Given the description of an element on the screen output the (x, y) to click on. 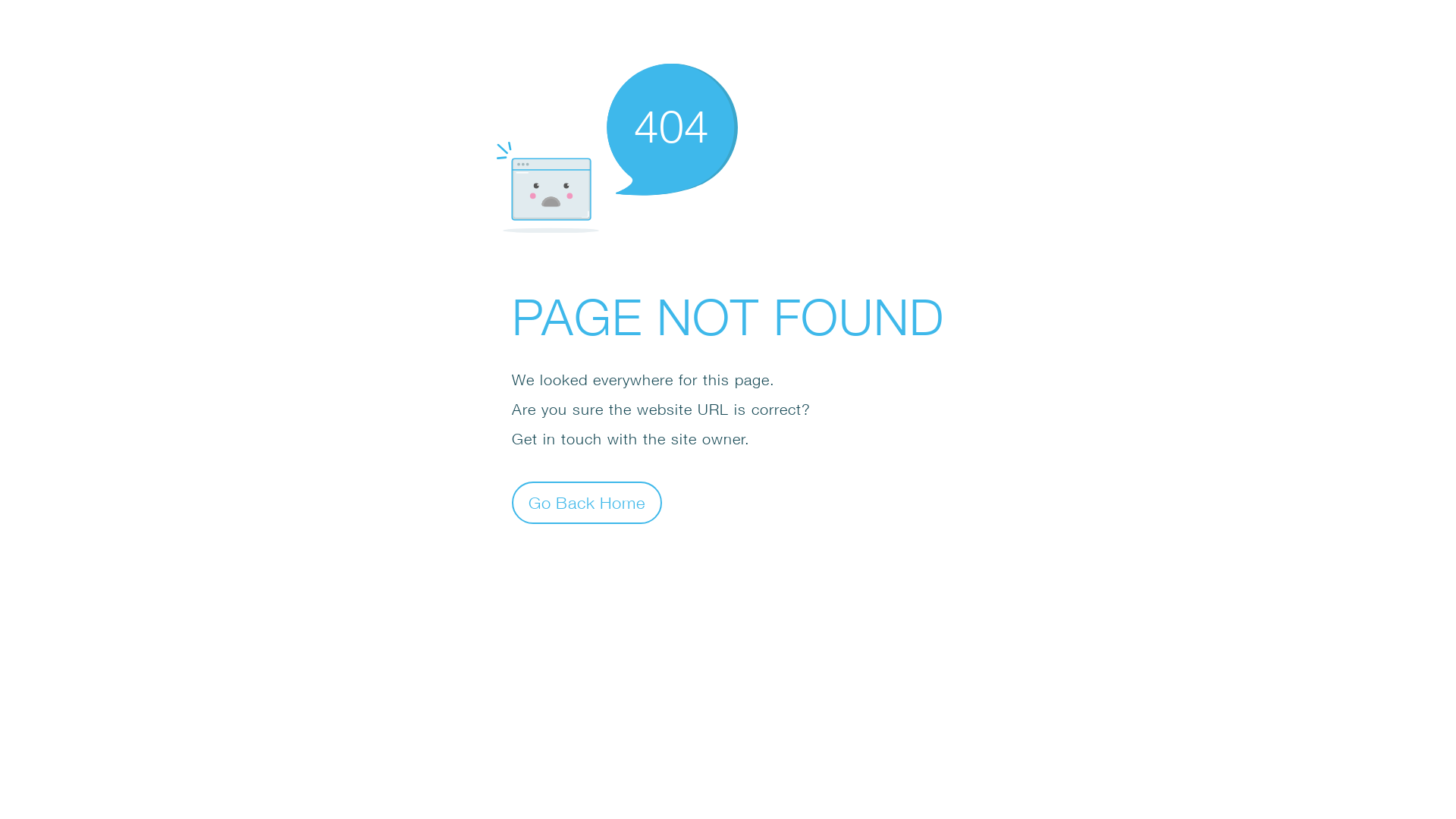
Go Back Home Element type: text (586, 502)
